Given the description of an element on the screen output the (x, y) to click on. 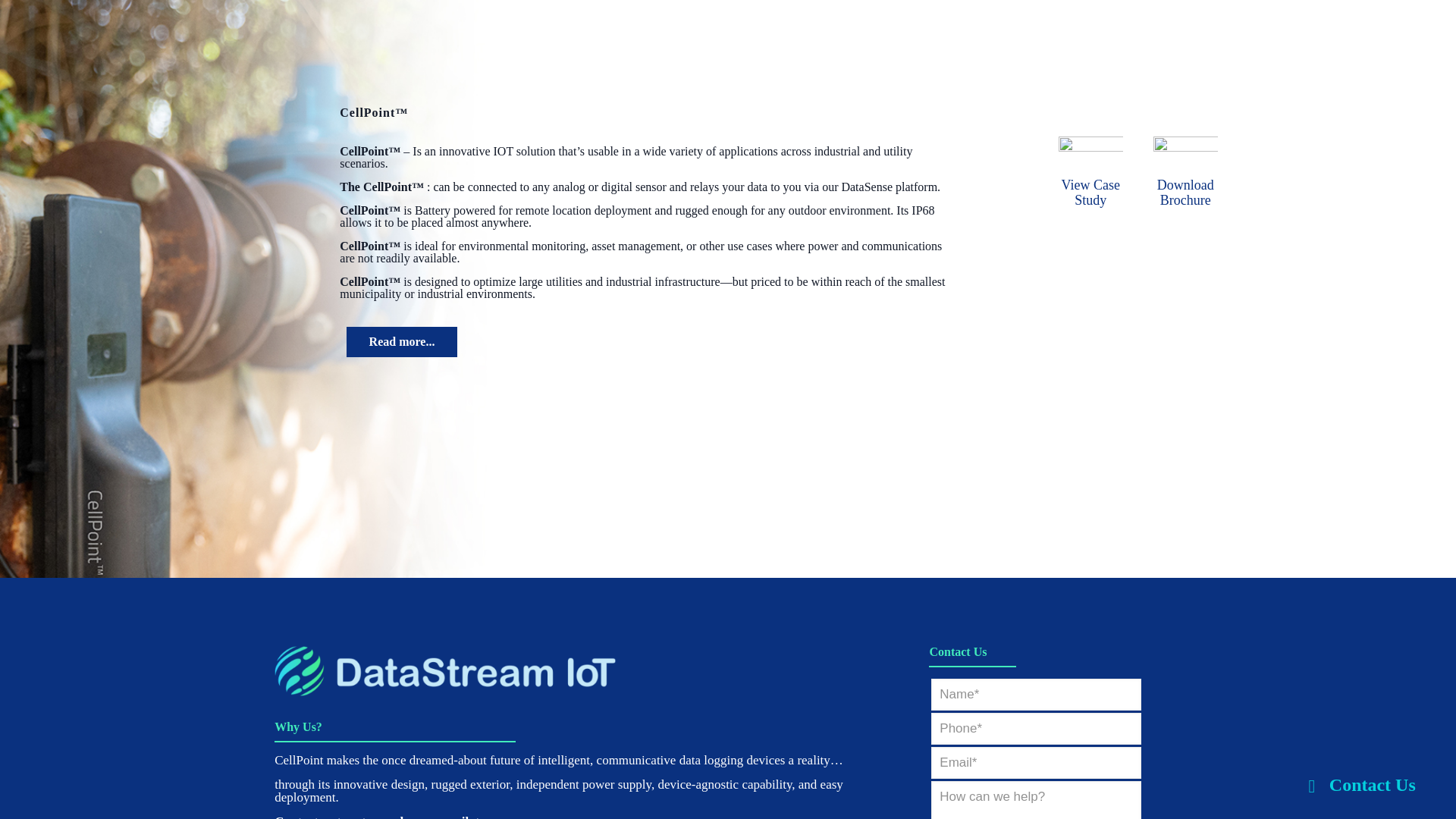
Read more... (402, 341)
Contact Us (1357, 784)
